Given the description of an element on the screen output the (x, y) to click on. 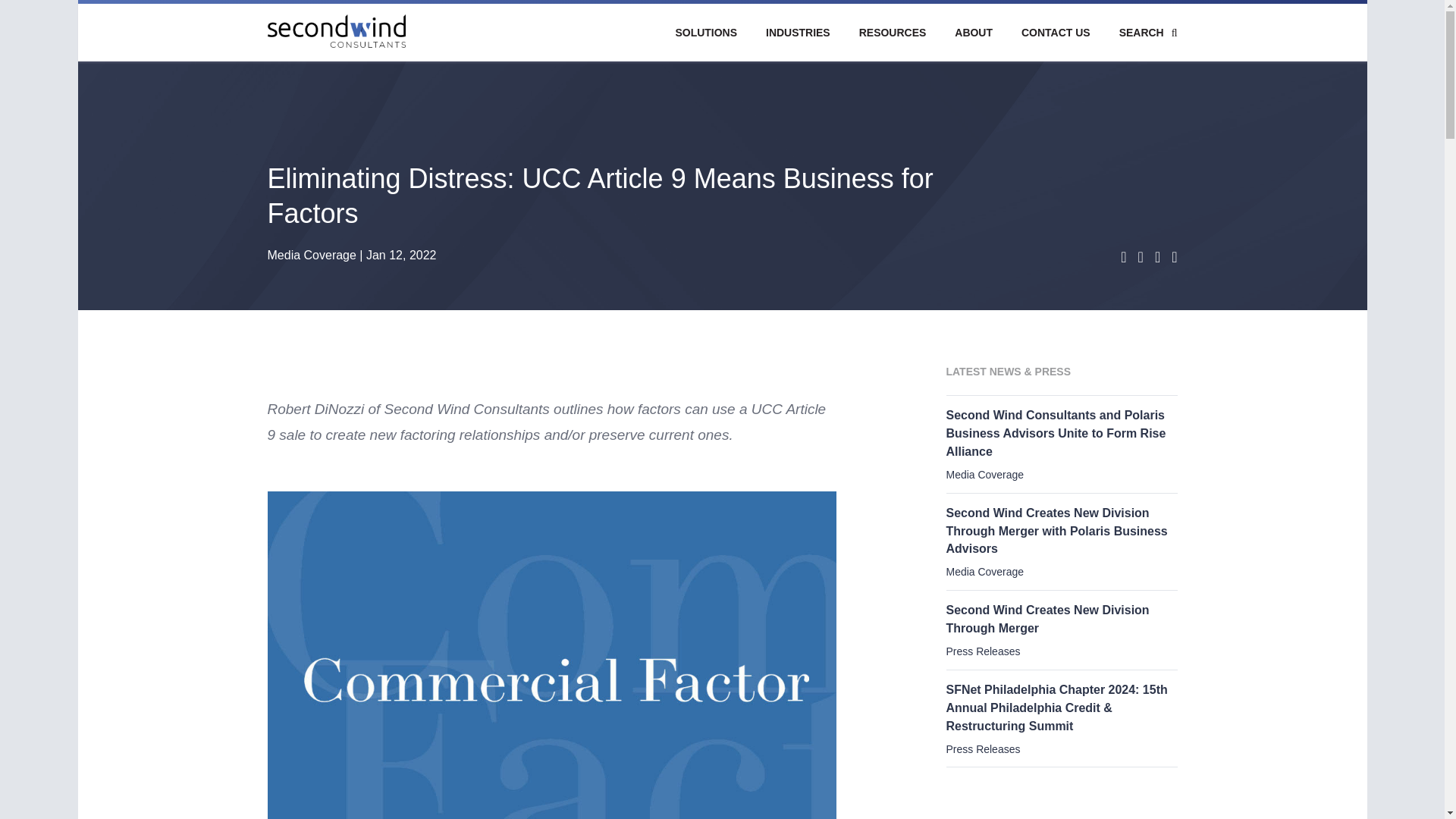
RESOURCES (892, 39)
INDUSTRIES (797, 39)
SOLUTIONS (706, 39)
SWC logo (335, 30)
